Given the description of an element on the screen output the (x, y) to click on. 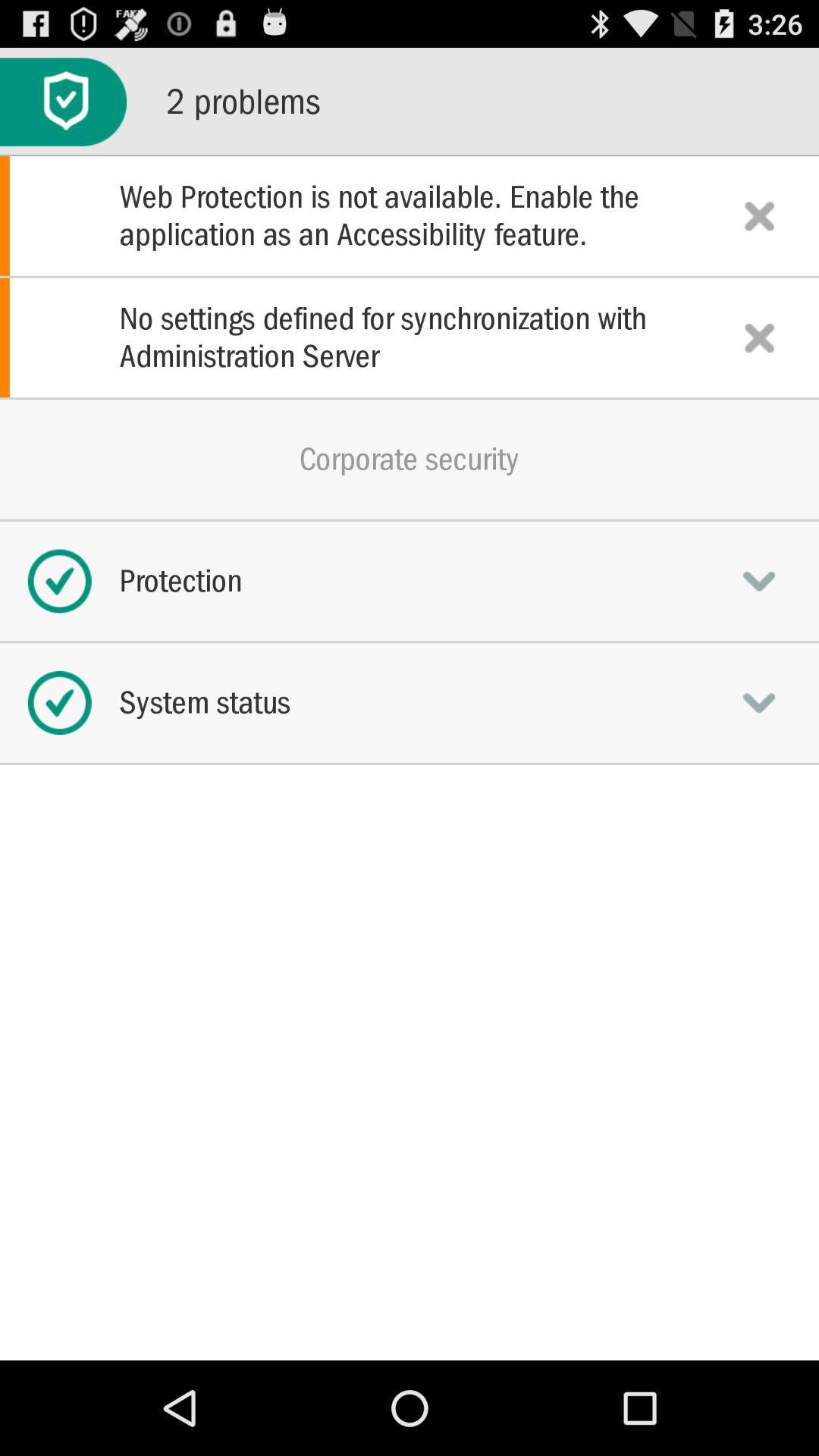
enables the accessibility function (759, 215)
